Given the description of an element on the screen output the (x, y) to click on. 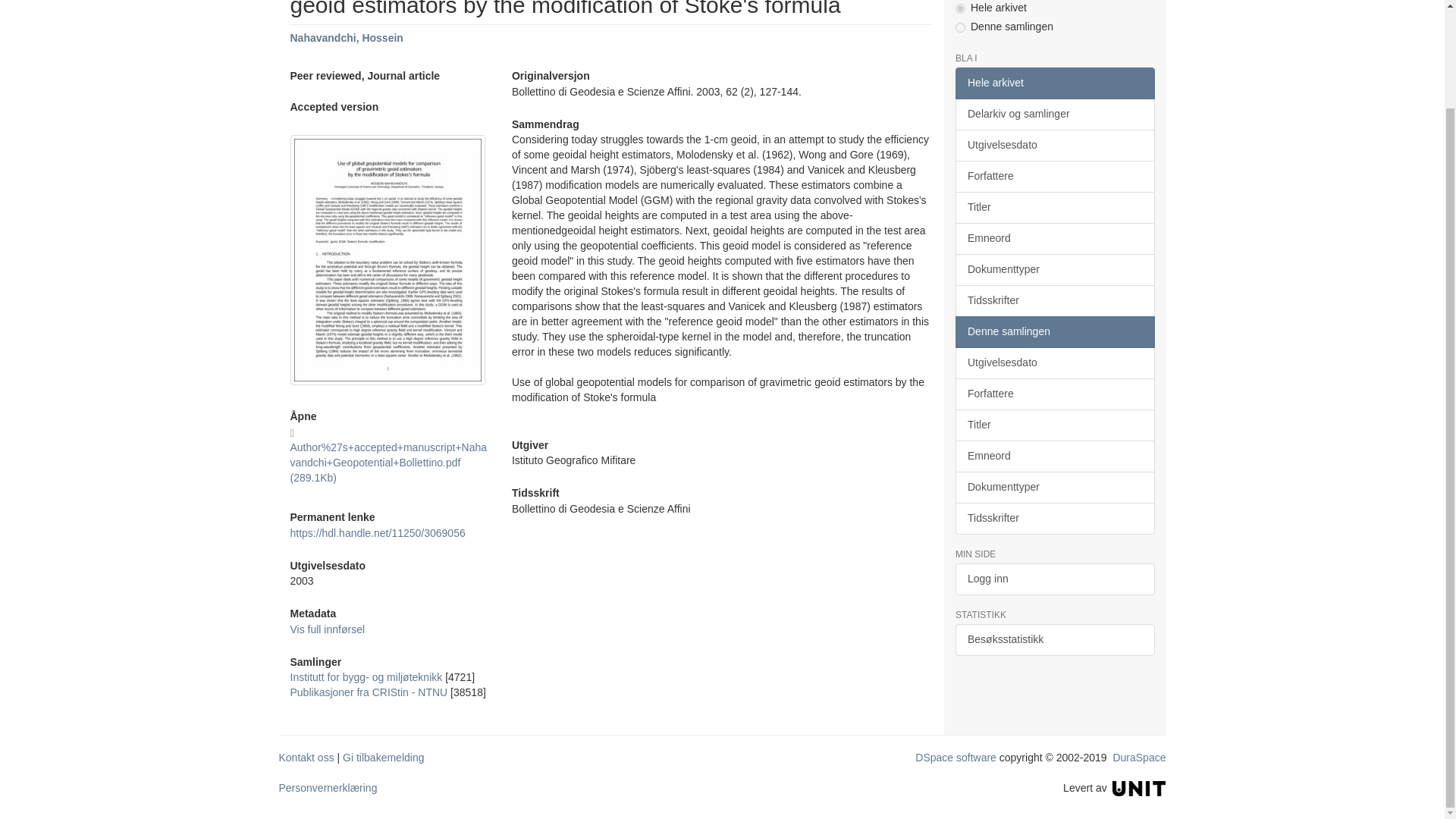
Emneord (1054, 238)
Dokumenttyper (1054, 269)
Delarkiv og samlinger (1054, 114)
Forfattere (1054, 176)
Hele arkivet (1054, 83)
Titler (1054, 207)
Nahavandchi, Hossein (346, 37)
Publikasjoner fra CRIStin - NTNU (367, 692)
Utgivelsesdato (1054, 145)
Unit (1139, 787)
